Given the description of an element on the screen output the (x, y) to click on. 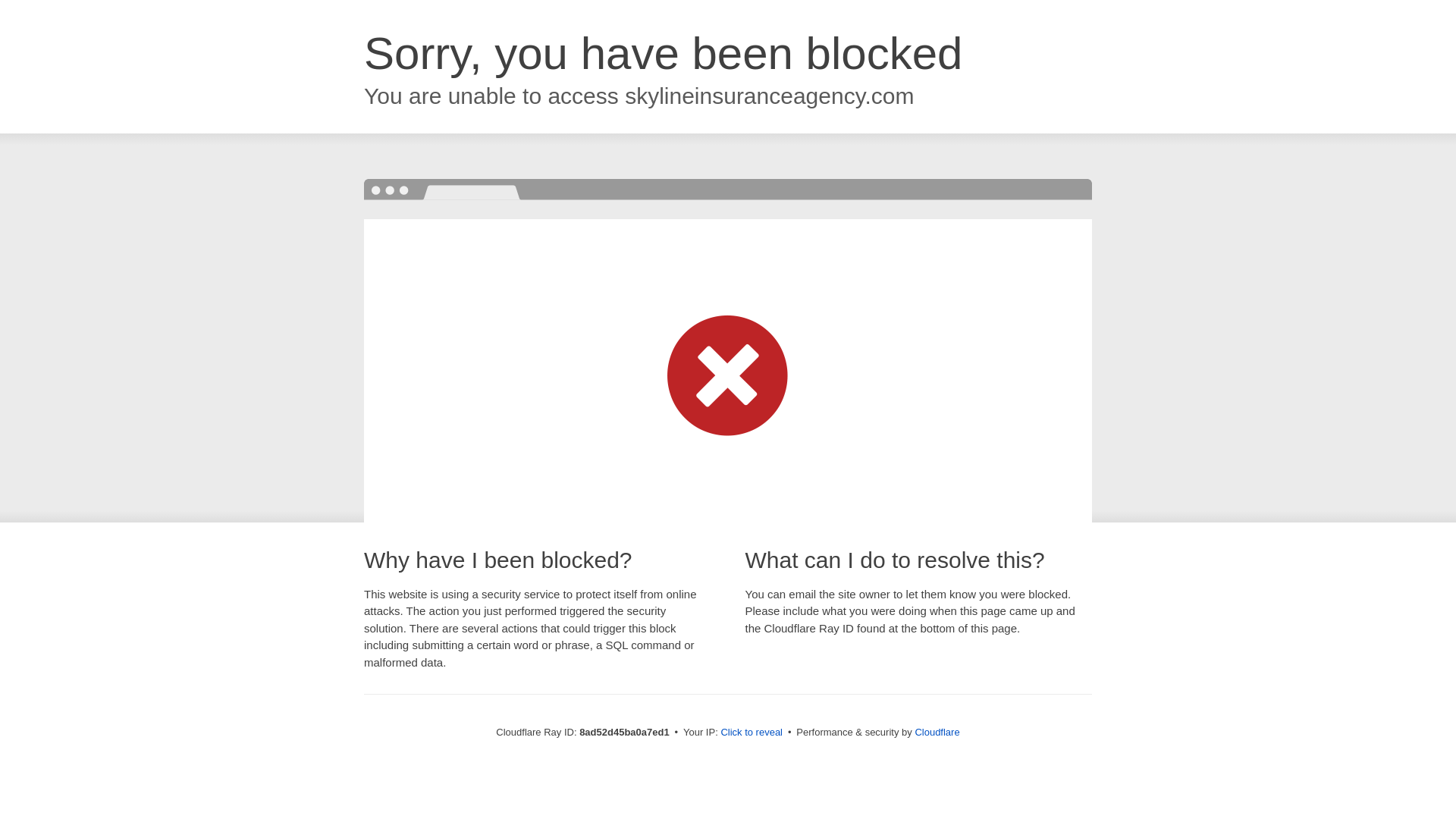
Click to reveal (751, 732)
Cloudflare (936, 731)
